Given the description of an element on the screen output the (x, y) to click on. 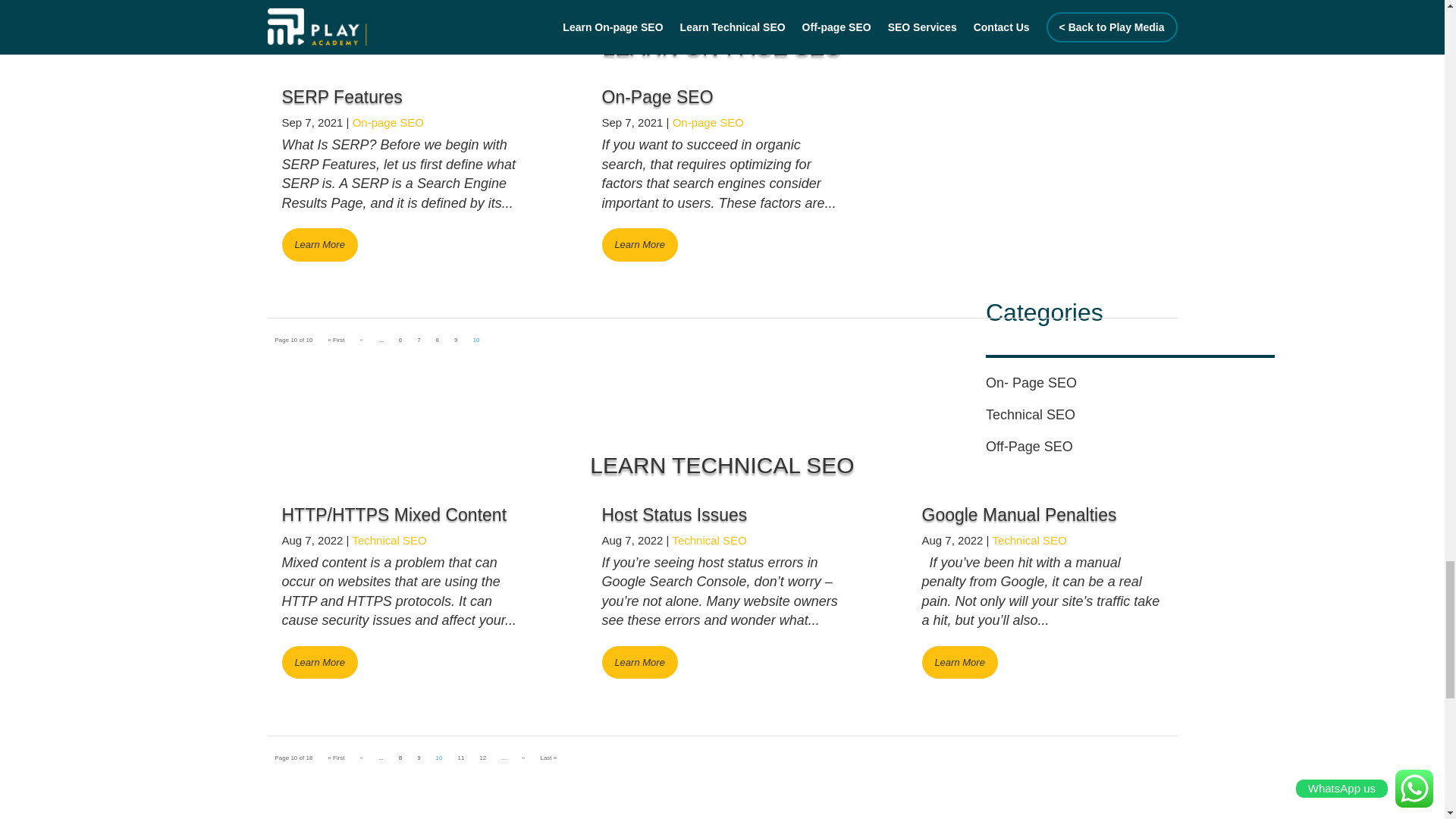
Learn More (320, 244)
Page 9 (455, 339)
7 (418, 339)
8 (437, 339)
On-page SEO (387, 122)
On-page SEO (708, 122)
Page 9 (418, 757)
Page 12 (482, 757)
Learn More (640, 244)
Page 7 (418, 339)
6 (400, 339)
Page 11 (459, 757)
SERP Features (342, 96)
Page 8 (400, 757)
Page 8 (437, 339)
